Given the description of an element on the screen output the (x, y) to click on. 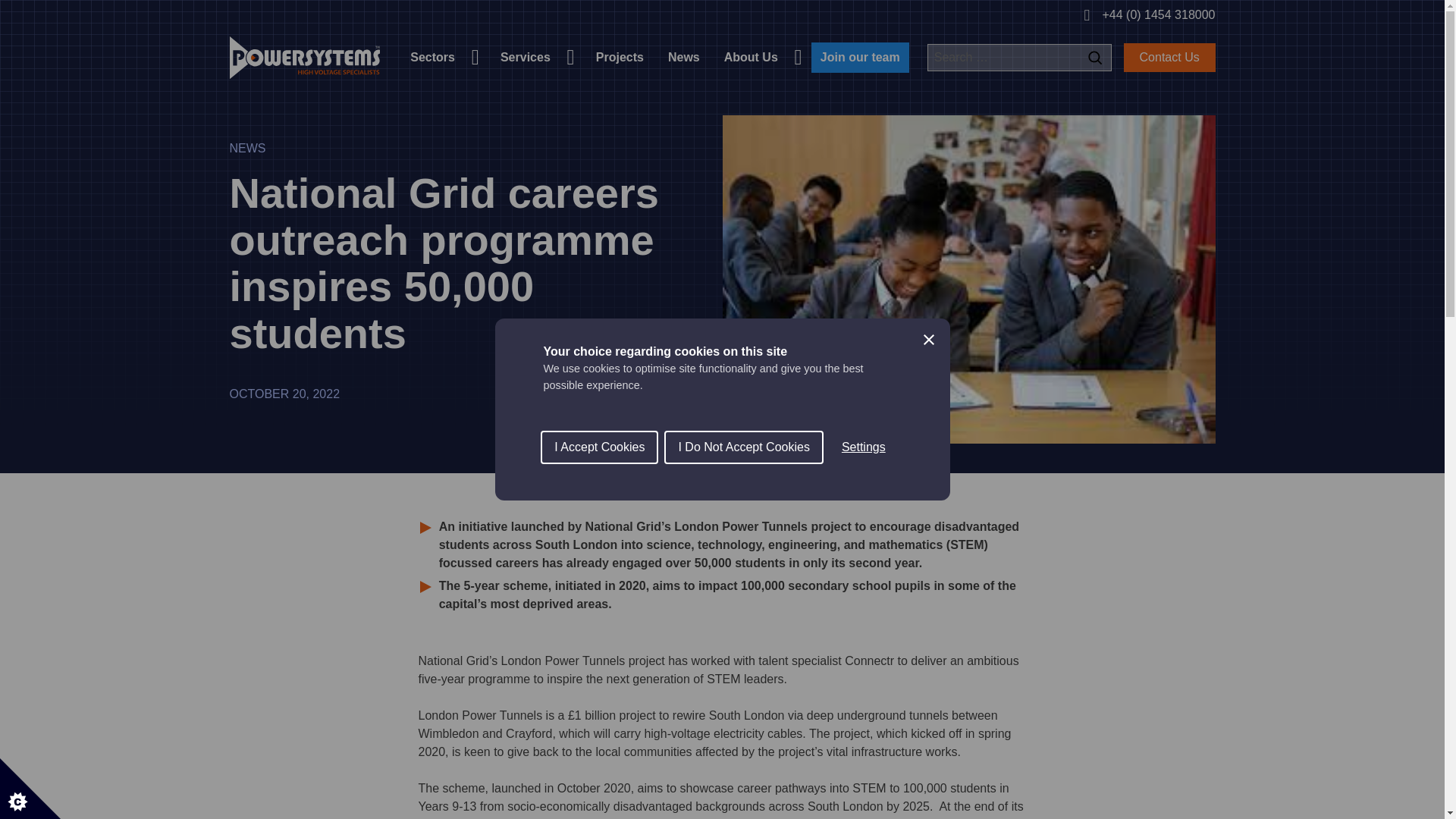
Sectors (442, 57)
About Us (760, 57)
Settings (863, 634)
Services (535, 57)
Search (1095, 57)
I Do Not Accept Cookies (742, 660)
I Accept Cookies (599, 671)
News (683, 57)
Projects (619, 57)
Search (1095, 57)
